Given the description of an element on the screen output the (x, y) to click on. 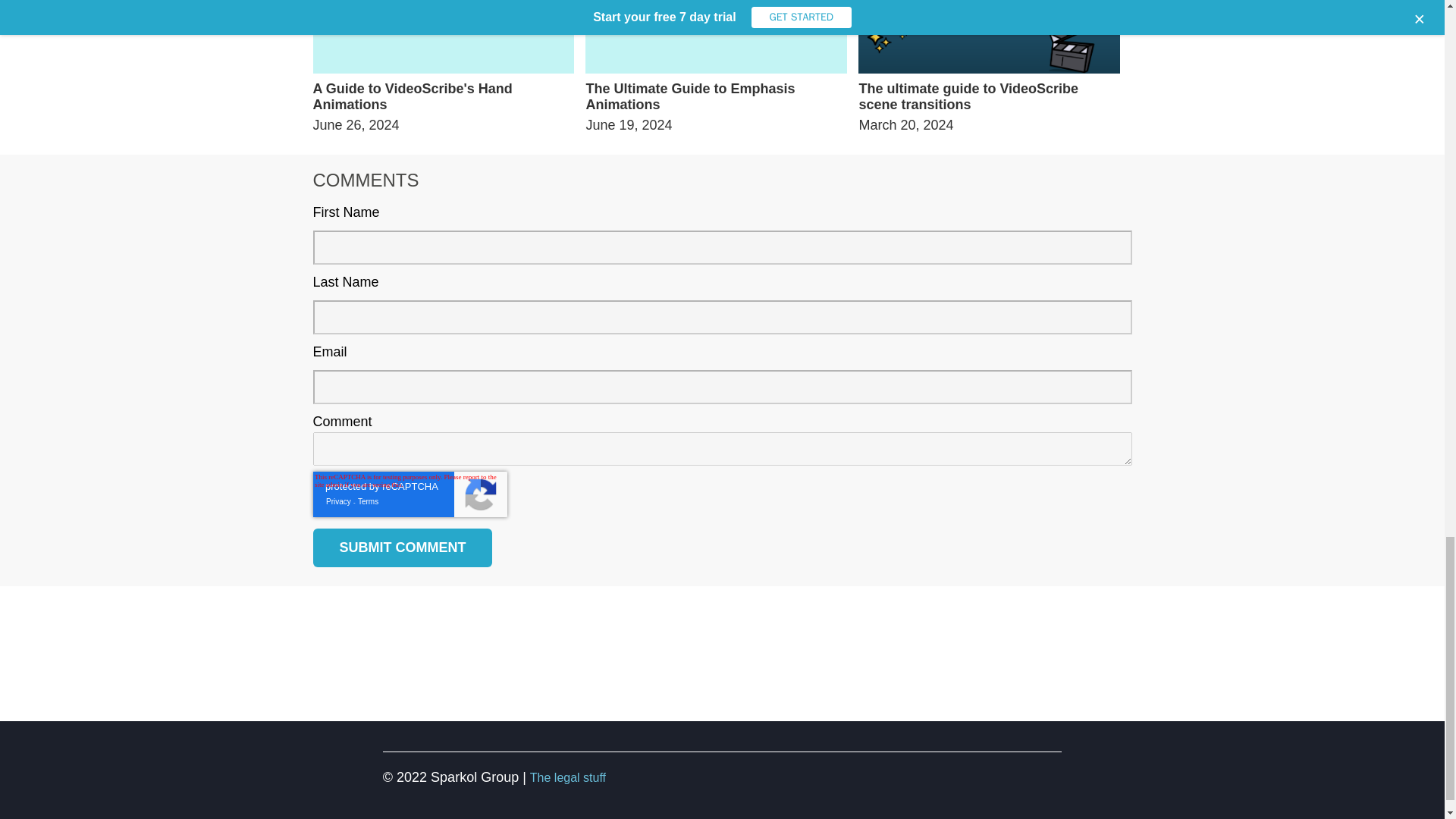
The legal stuff (567, 777)
The ultimate guide to VideoScribe scene transitions (989, 97)
The Ultimate Guide to Emphasis Animations (716, 97)
reCAPTCHA (409, 493)
Submit Comment (402, 547)
A Guide to VideoScribe's Hand Animations (443, 97)
Submit Comment (402, 547)
